Given the description of an element on the screen output the (x, y) to click on. 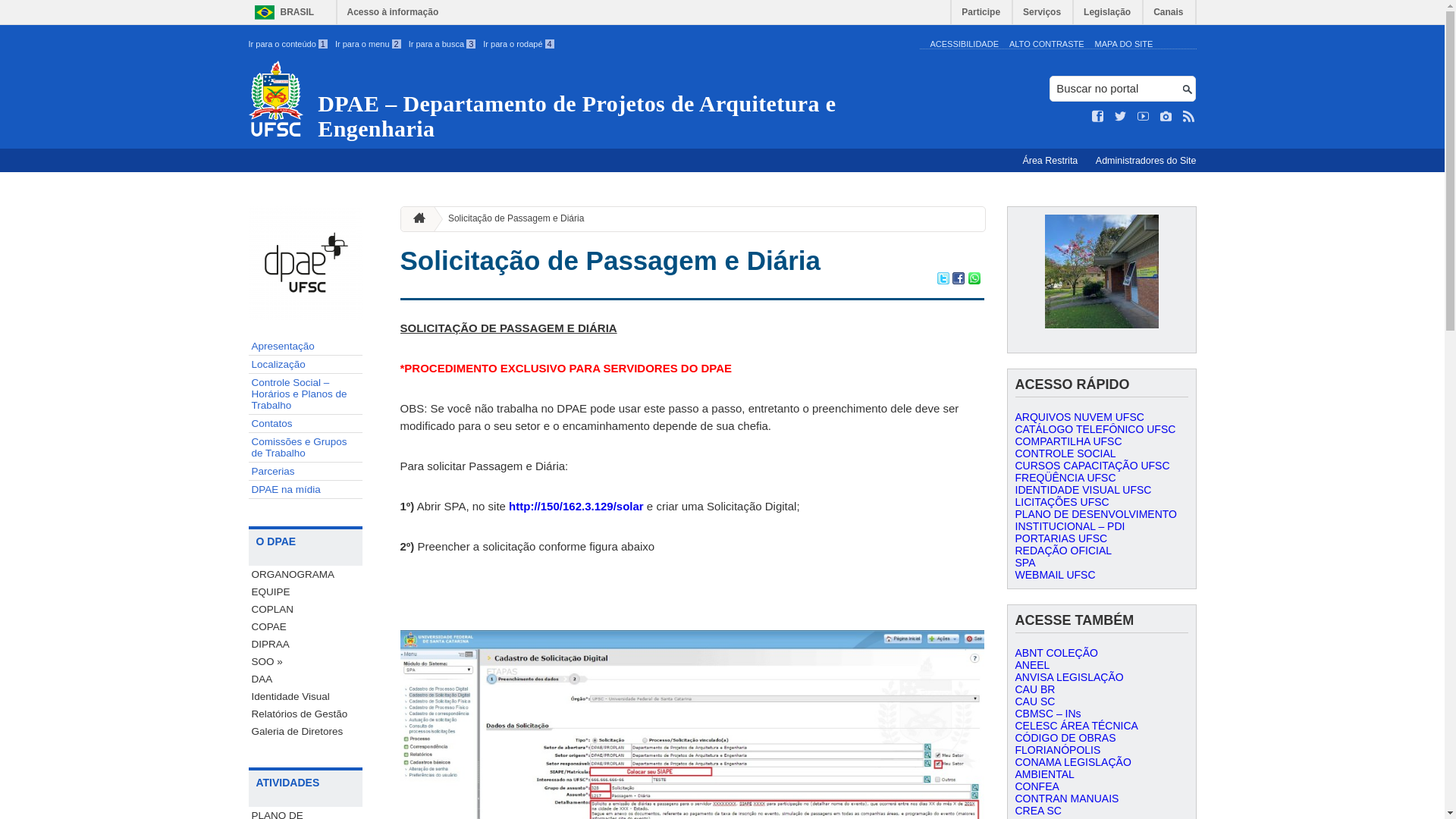
COPAE Element type: text (305, 626)
Compartilhar no Twitter Element type: hover (943, 279)
Compartilhar no WhatsApp Element type: hover (973, 279)
ACESSIBILIDADE Element type: text (963, 43)
CREA SC Element type: text (1037, 810)
CONTROLE SOCIAL Element type: text (1064, 453)
Parcerias Element type: text (305, 471)
Veja no Instagram Element type: hover (1166, 116)
Ir para o menu 2 Element type: text (368, 43)
ANEEL Element type: text (1031, 664)
Ir para a busca 3 Element type: text (442, 43)
CONTRAN MANUAIS Element type: text (1066, 798)
MAPA DO SITE Element type: text (1124, 43)
Identidade Visual Element type: text (305, 696)
IDENTIDADE VISUAL UFSC Element type: text (1082, 489)
DAA Element type: text (305, 678)
WEBMAIL UFSC Element type: text (1054, 574)
DIPRAA Element type: text (305, 643)
COPLAN Element type: text (305, 609)
Galeria de Diretores Element type: text (305, 731)
COMPARTILHA UFSC Element type: text (1067, 441)
Administradores do Site Element type: text (1146, 160)
PORTARIAS UFSC Element type: text (1060, 538)
BRASIL Element type: text (280, 12)
Curta no Facebook Element type: hover (1098, 116)
ALTO CONTRASTE Element type: text (1046, 43)
EQUIPE Element type: text (305, 591)
CAU SC Element type: text (1034, 701)
http://150/162.3.129/solar Element type: text (575, 505)
SPA Element type: text (1024, 562)
CONFEA Element type: text (1036, 786)
ORGANOGRAMA Element type: text (305, 574)
Contatos Element type: text (305, 423)
ARQUIVOS NUVEM UFSC Element type: text (1078, 417)
Siga no Twitter Element type: hover (1120, 116)
CAU BR Element type: text (1034, 689)
Compartilhar no Facebook Element type: hover (958, 279)
Participe Element type: text (981, 15)
Canais Element type: text (1168, 15)
